Given the description of an element on the screen output the (x, y) to click on. 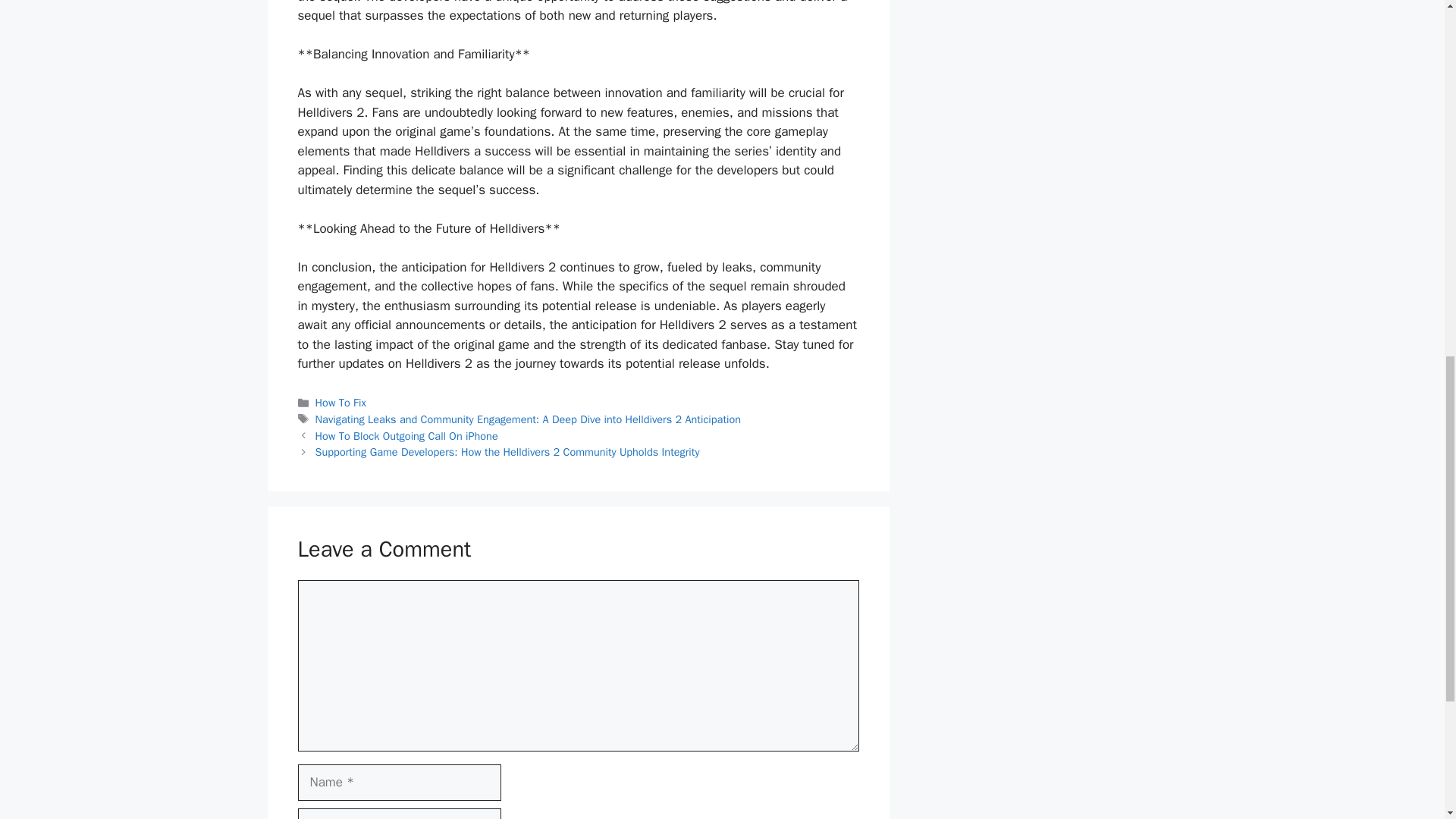
How To Fix (340, 402)
How To Block Outgoing Call On iPhone (406, 436)
